Given the description of an element on the screen output the (x, y) to click on. 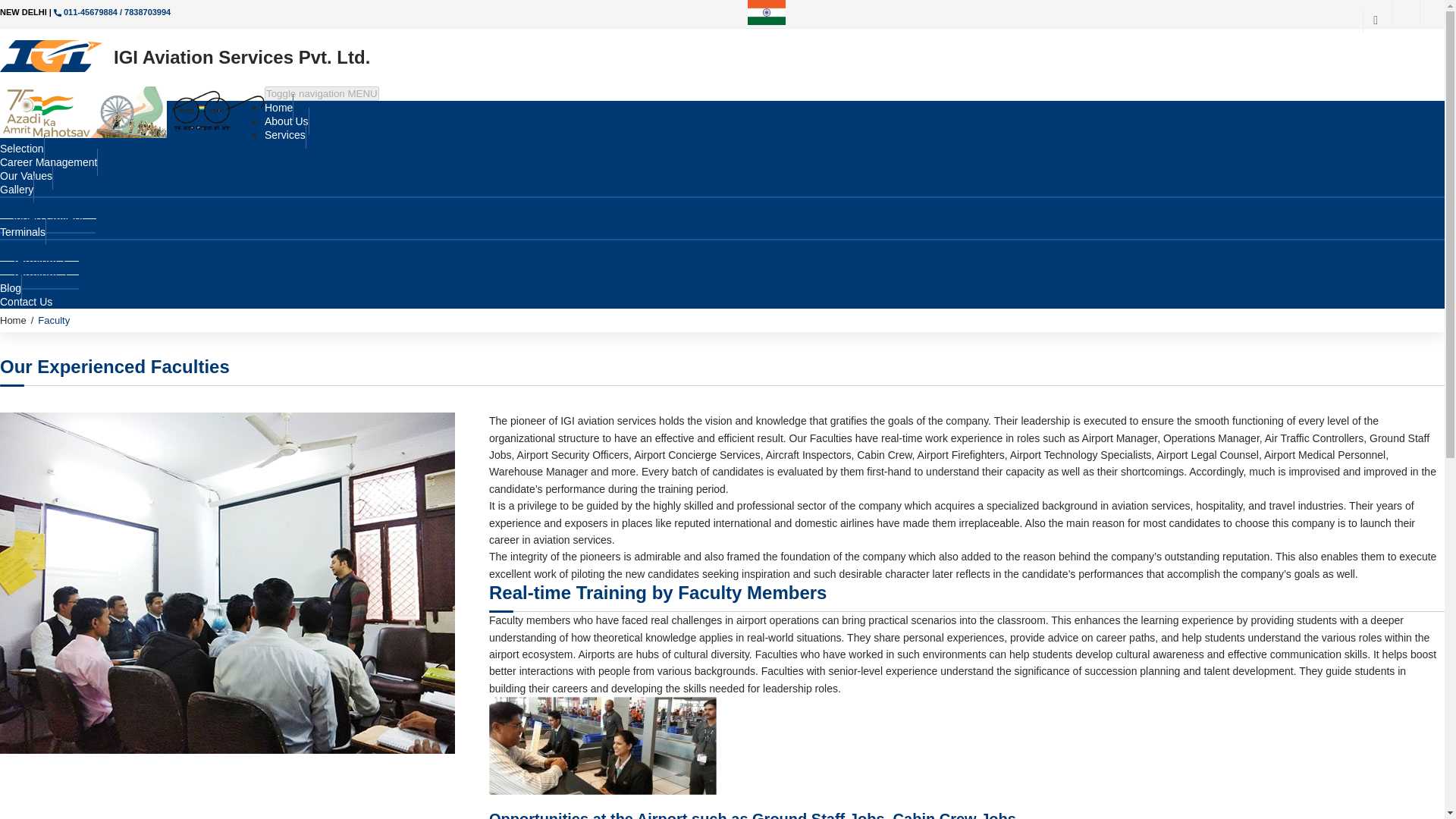
Home (13, 319)
Terminals (23, 231)
Gallery (16, 189)
Services (284, 134)
Terminal 2 (39, 260)
Toggle navigation MENU (321, 93)
Career Management (48, 162)
Home (13, 319)
Terminal 1 (39, 246)
Video Gallery (48, 218)
Terminal 3 (39, 274)
Selection (22, 148)
Contact Us (26, 301)
Our Values (26, 175)
About Us (286, 121)
